Given the description of an element on the screen output the (x, y) to click on. 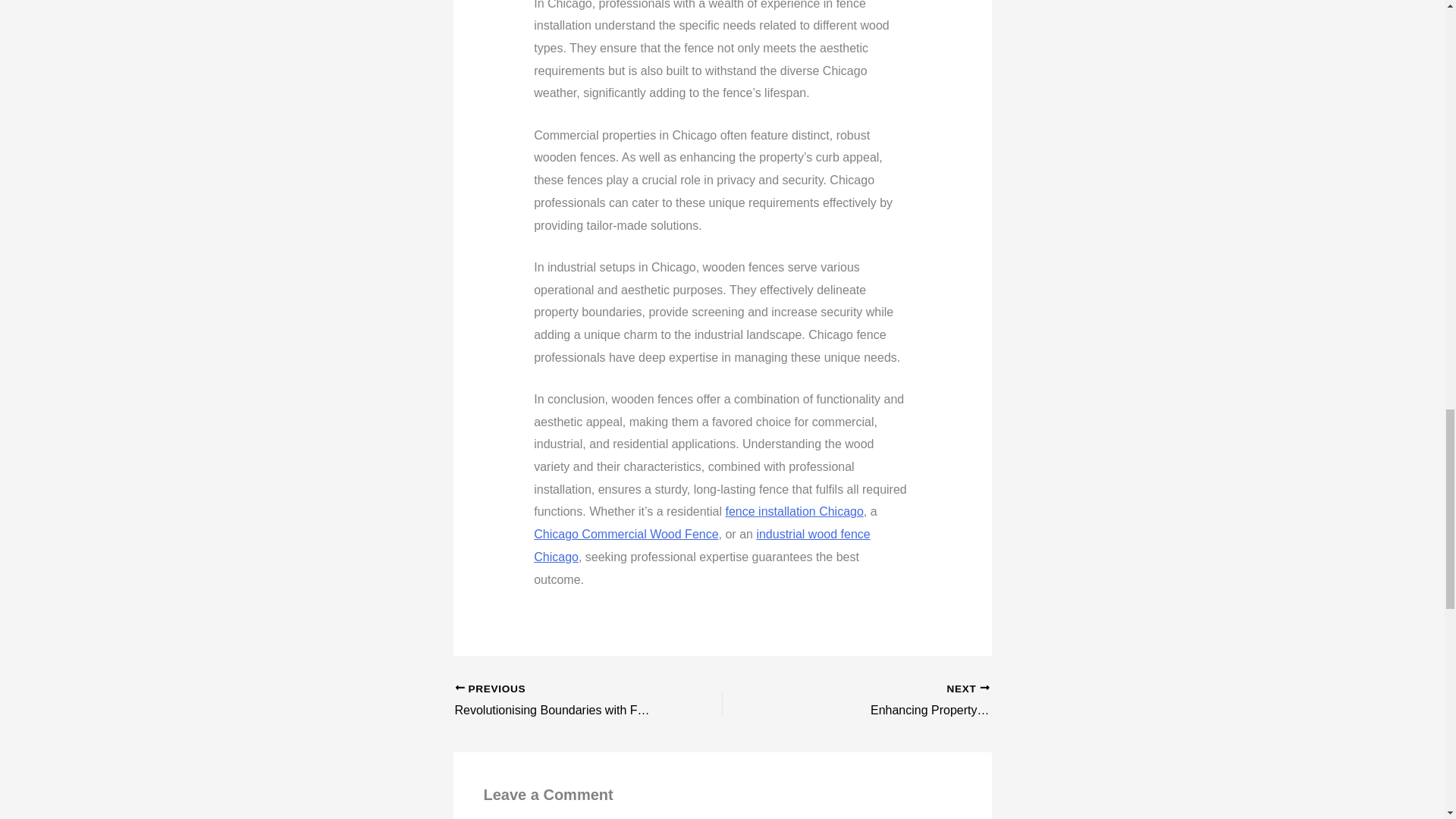
Revolutionising Boundaries with Fencing (561, 701)
